Given the description of an element on the screen output the (x, y) to click on. 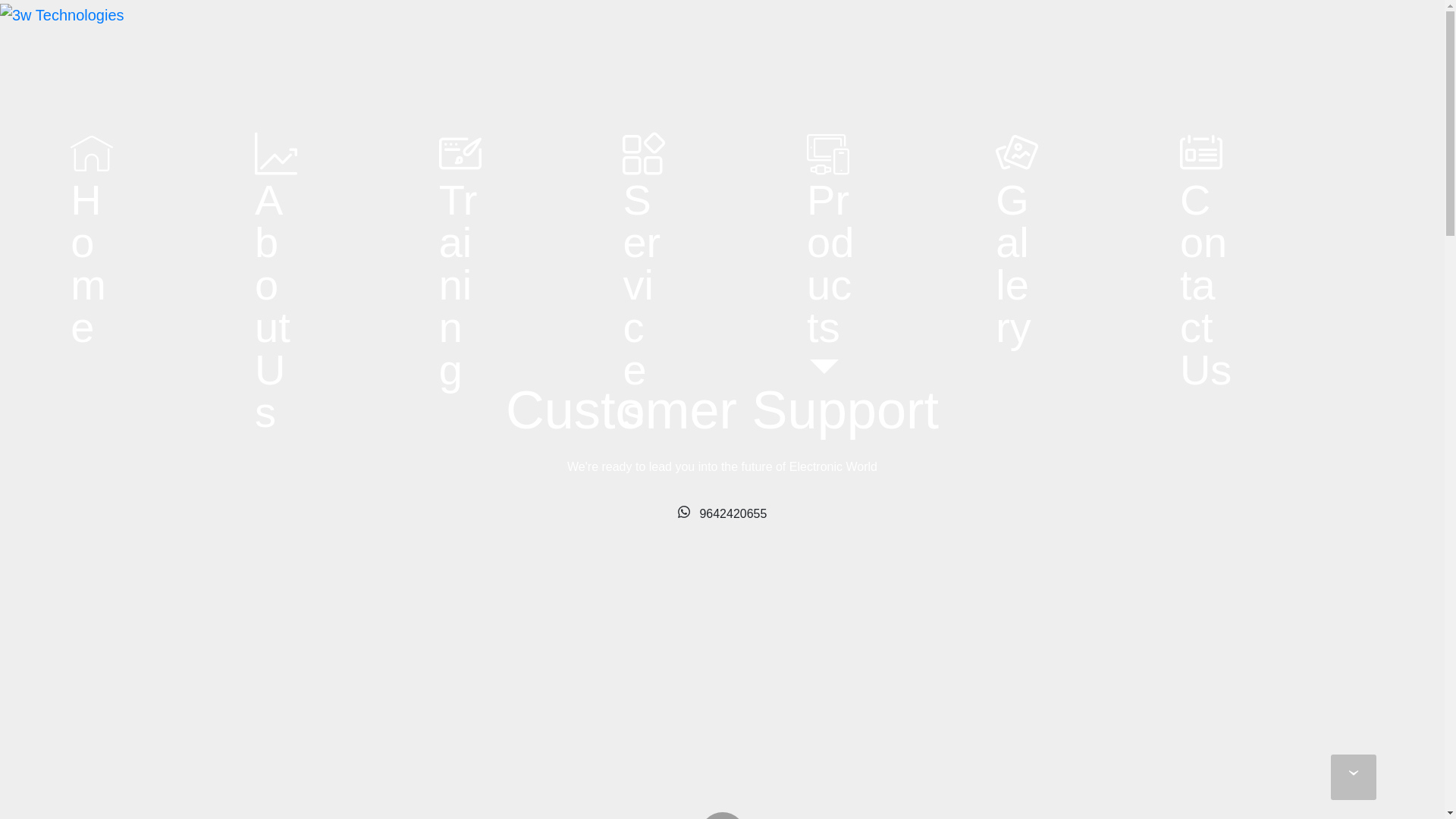
3w Tech: Home Automation and IOT Products Element type: hover (62, 51)
Training Element type: text (459, 262)
Contact Us Element type: text (1206, 262)
Home Element type: text (92, 240)
Products Element type: text (830, 262)
Services Element type: text (644, 283)
Gallery Element type: text (1017, 240)
9642420655 Element type: text (722, 512)
About Us Element type: text (276, 283)
